Given the description of an element on the screen output the (x, y) to click on. 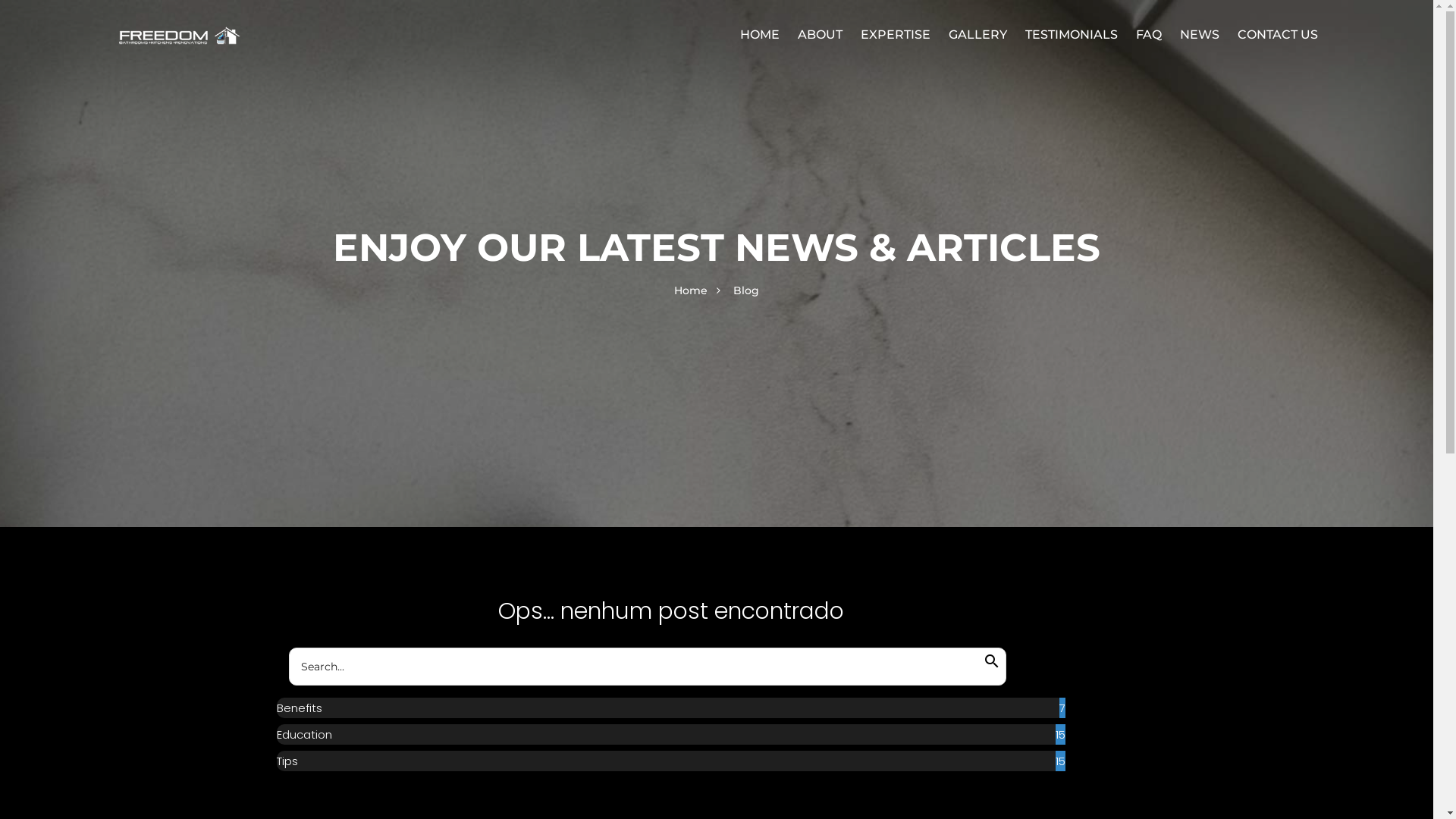
ABOUT Element type: text (819, 34)
FAQ Element type: text (1148, 34)
TESTIMONIALS Element type: text (1071, 34)
GALLERY Element type: text (977, 34)
Benefits
7 Element type: text (670, 707)
CONTACT US Element type: text (1277, 34)
NEWS Element type: text (1199, 34)
Education
15 Element type: text (670, 734)
EXPERTISE Element type: text (895, 34)
HOME Element type: text (759, 34)
search Element type: text (991, 654)
Tips
15 Element type: text (670, 760)
Home Element type: text (690, 290)
